Given the description of an element on the screen output the (x, y) to click on. 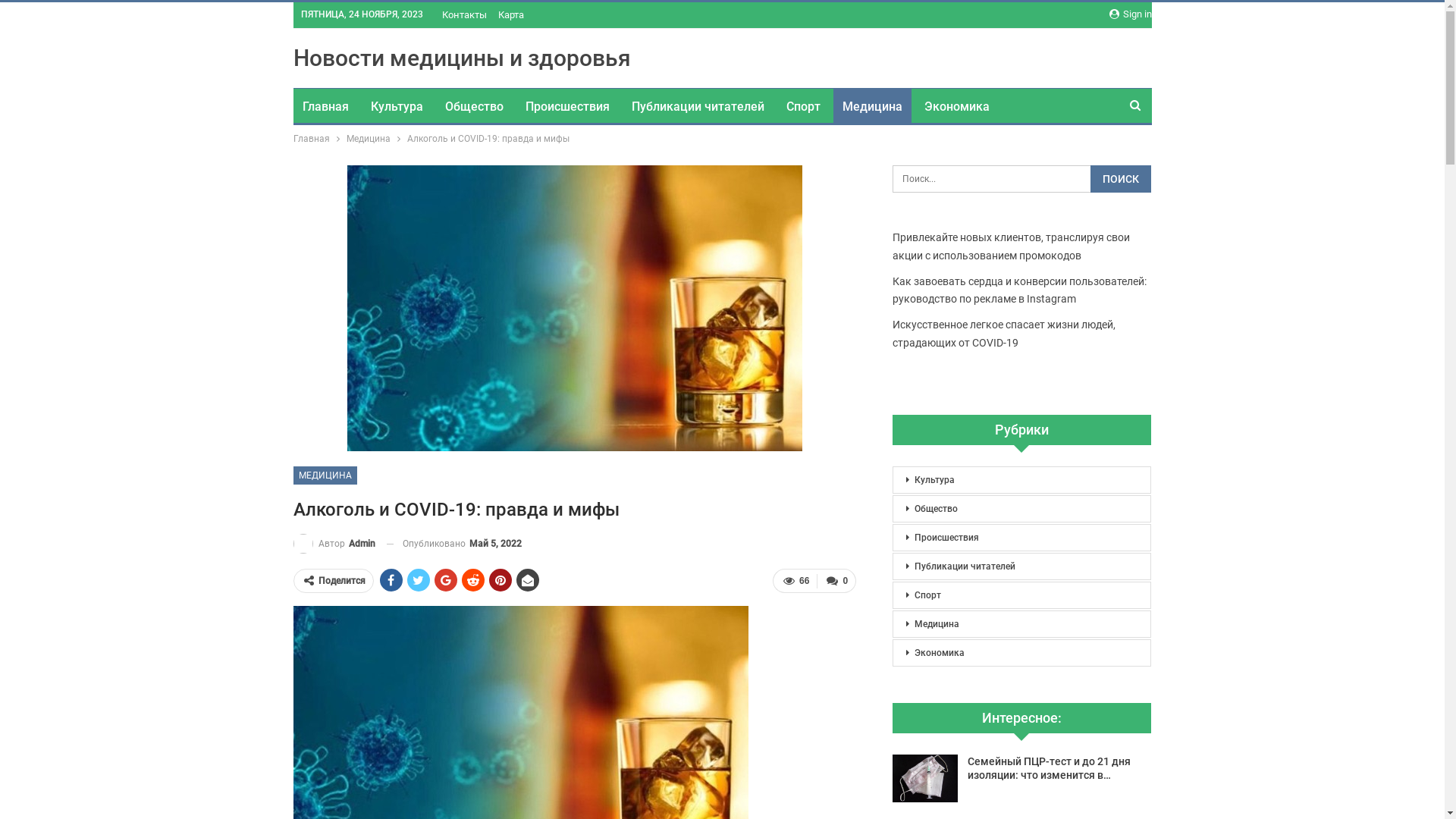
Sign in Element type: text (1129, 14)
0 Element type: text (836, 580)
